Given the description of an element on the screen output the (x, y) to click on. 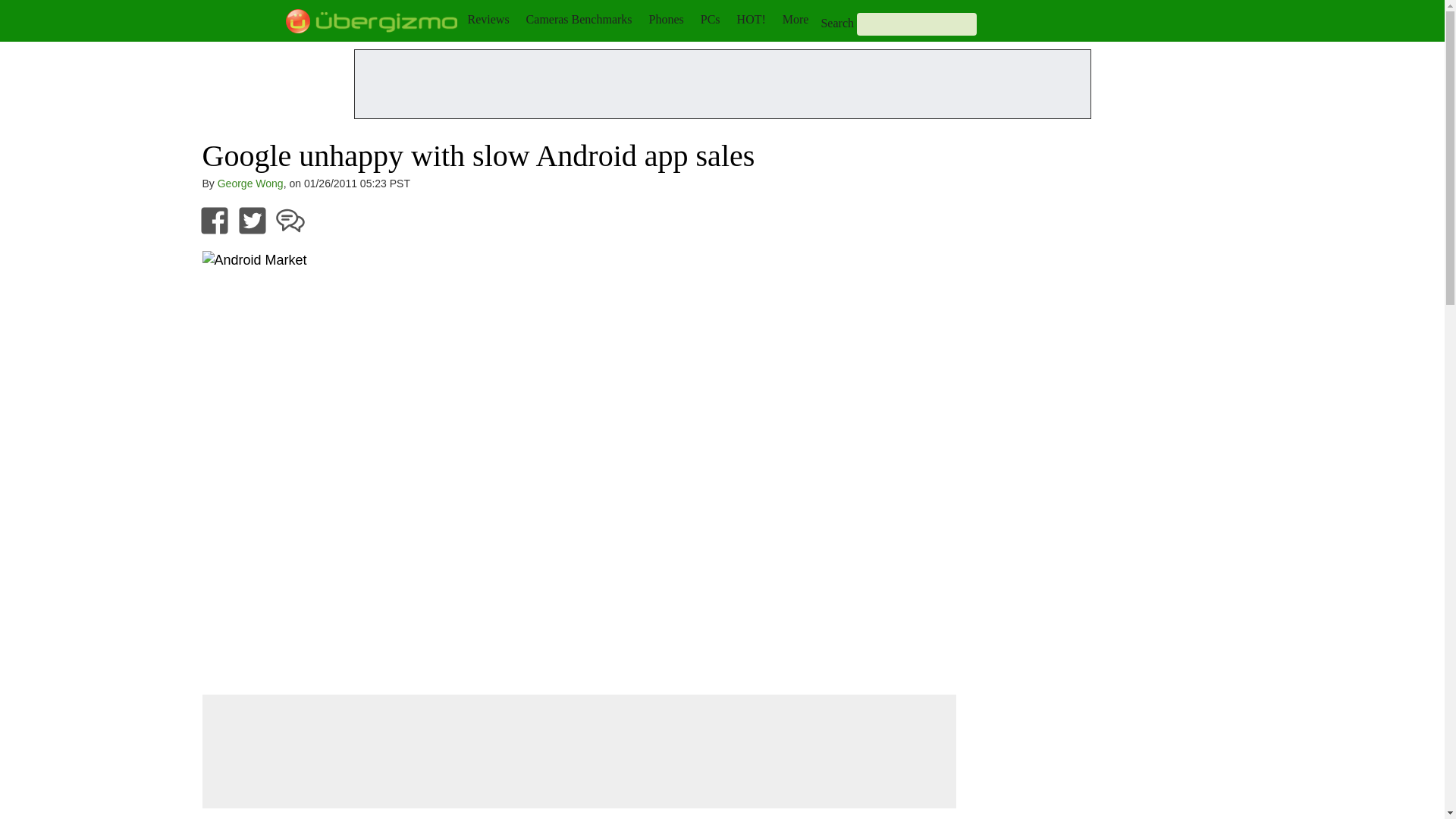
PCs (710, 19)
Phones (666, 19)
Cameras Benchmarks (578, 19)
Reviews (487, 19)
